Given the description of an element on the screen output the (x, y) to click on. 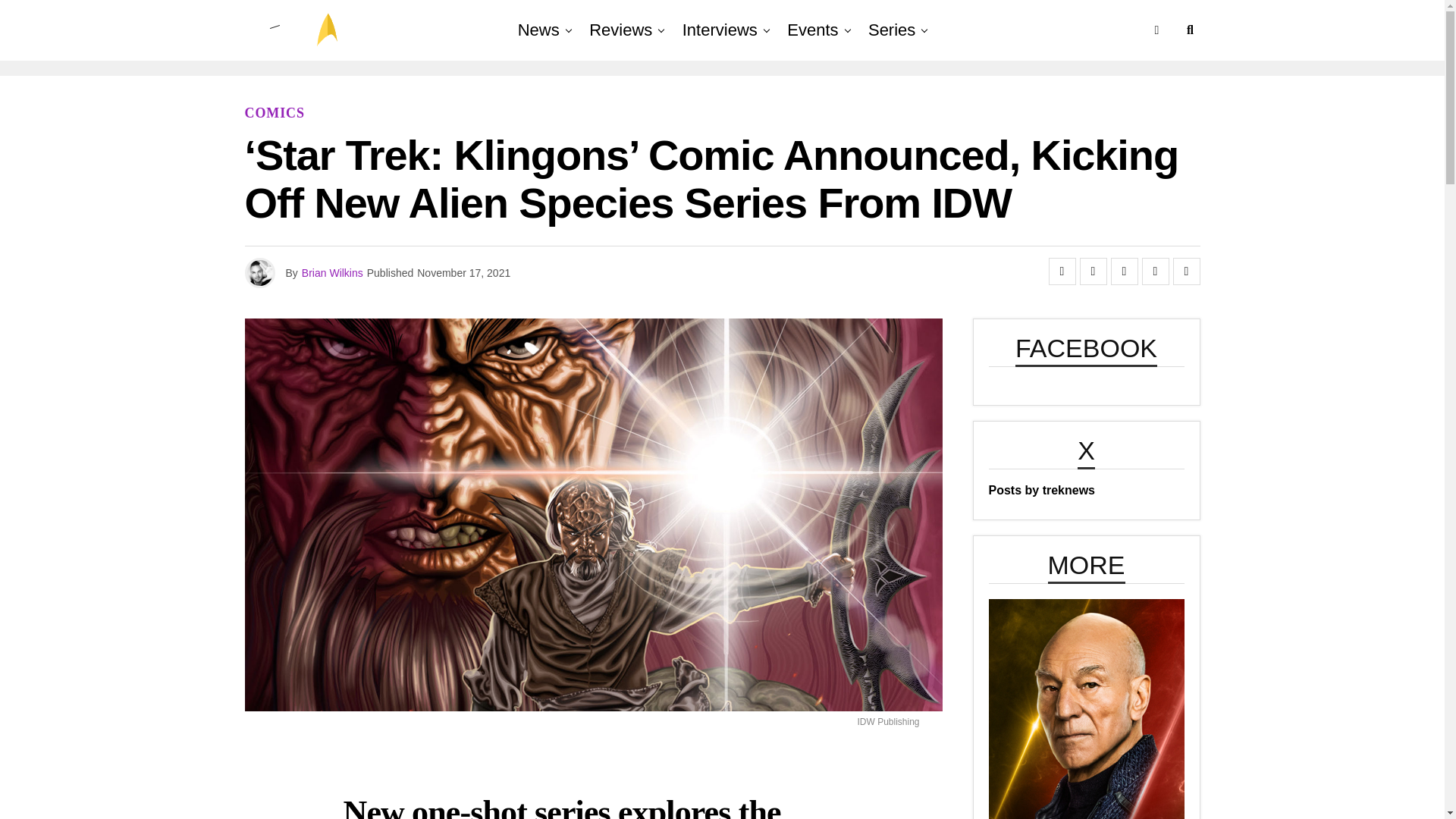
Posts by Brian Wilkins (331, 272)
Events (811, 30)
Tweet This Post (1093, 271)
Share on Flipboard (1123, 271)
Reviews (619, 30)
Interviews (720, 30)
News (539, 30)
Share on Facebook (1061, 271)
Reviews (619, 30)
